Given the description of an element on the screen output the (x, y) to click on. 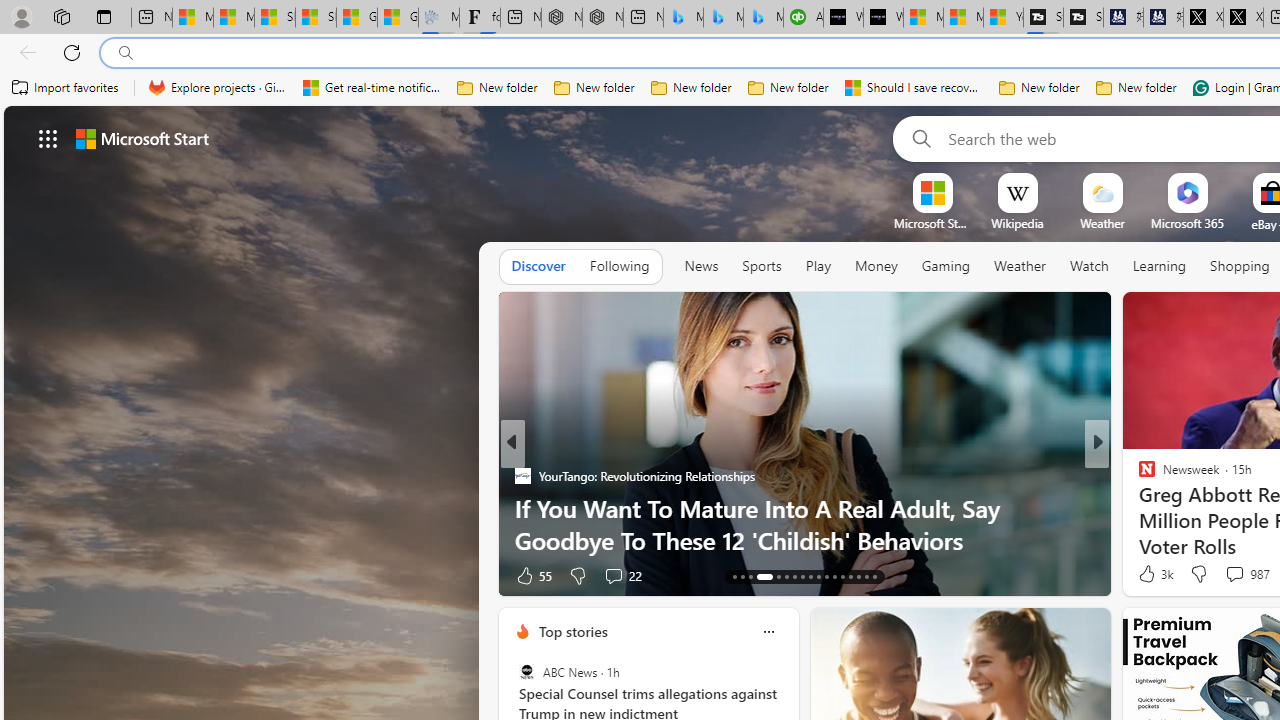
Gilma and Hector both pose tropical trouble for Hawaii (397, 17)
Play (818, 267)
View comments 2 Comment (1234, 574)
AutomationID: tab-14 (742, 576)
AutomationID: tab-13 (733, 576)
Weather (1019, 267)
This story is trending (449, 579)
The Independent (1138, 475)
Shopping (1240, 265)
AutomationID: tab-17 (772, 576)
Gaming (945, 267)
New folder (1136, 88)
